Given the description of an element on the screen output the (x, y) to click on. 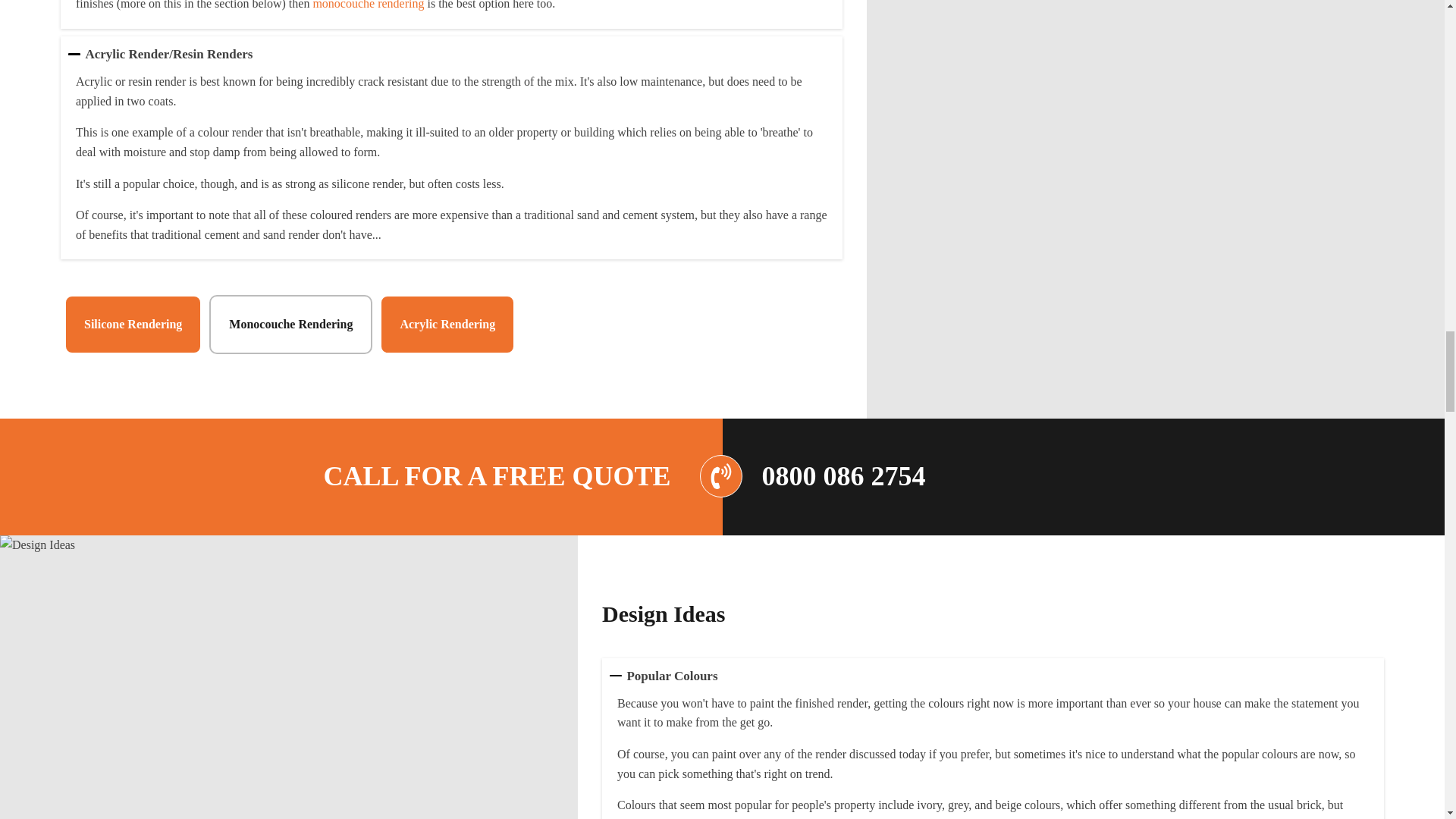
Acrylic Rendering (447, 323)
Monocouche Rendering (290, 323)
Silicone Rendering (133, 323)
monocouche rendering (368, 4)
0800 086 2754 (842, 476)
